Given the description of an element on the screen output the (x, y) to click on. 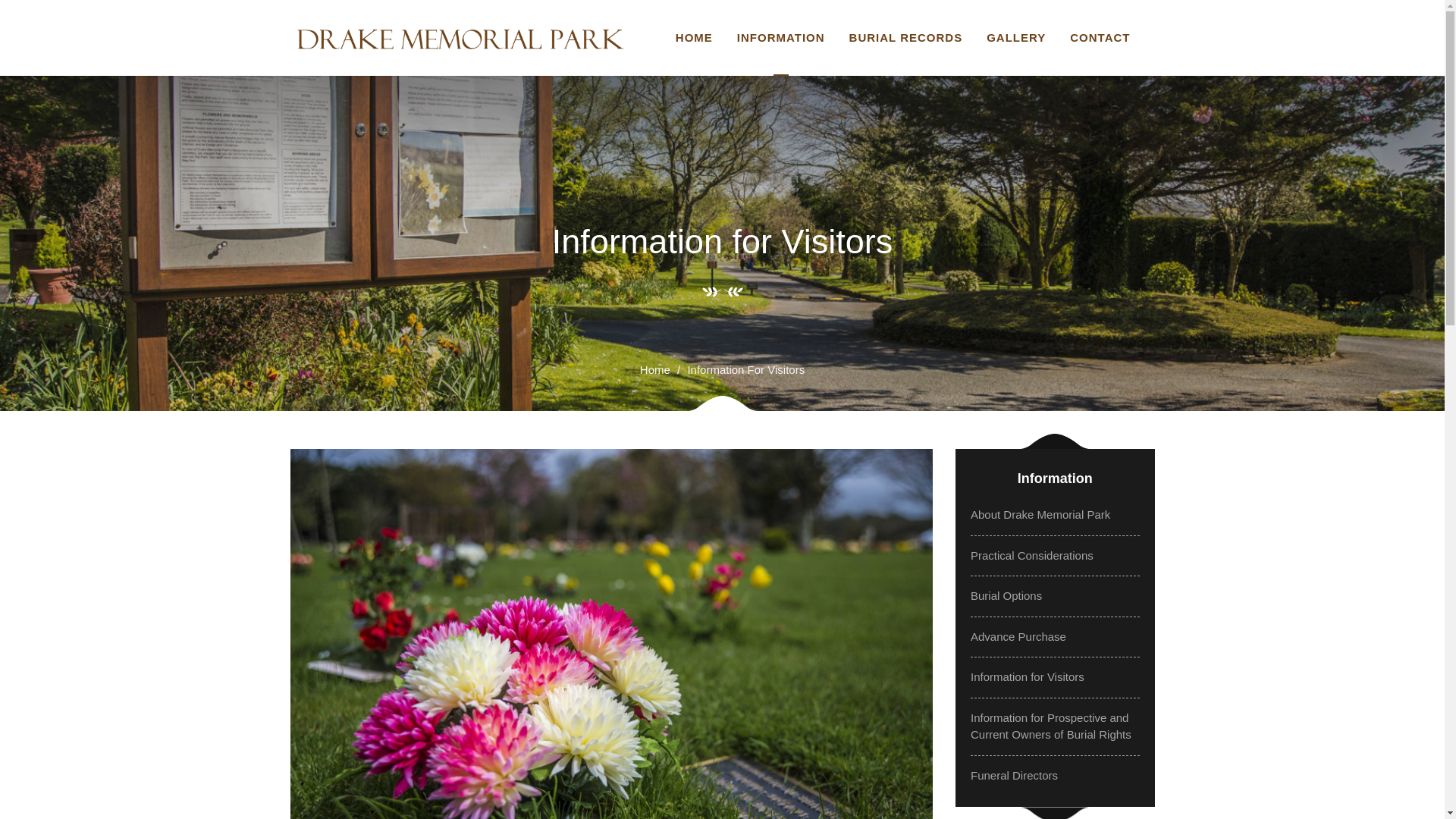
Home (654, 369)
Information for Visitors (1027, 676)
Practical Considerations (1032, 554)
Funeral Directors (1014, 775)
BURIAL RECORDS (905, 38)
Advance Purchase (1018, 635)
About Drake Memorial Park (1040, 513)
Burial Options (1006, 594)
INFORMATION (780, 38)
